Given the description of an element on the screen output the (x, y) to click on. 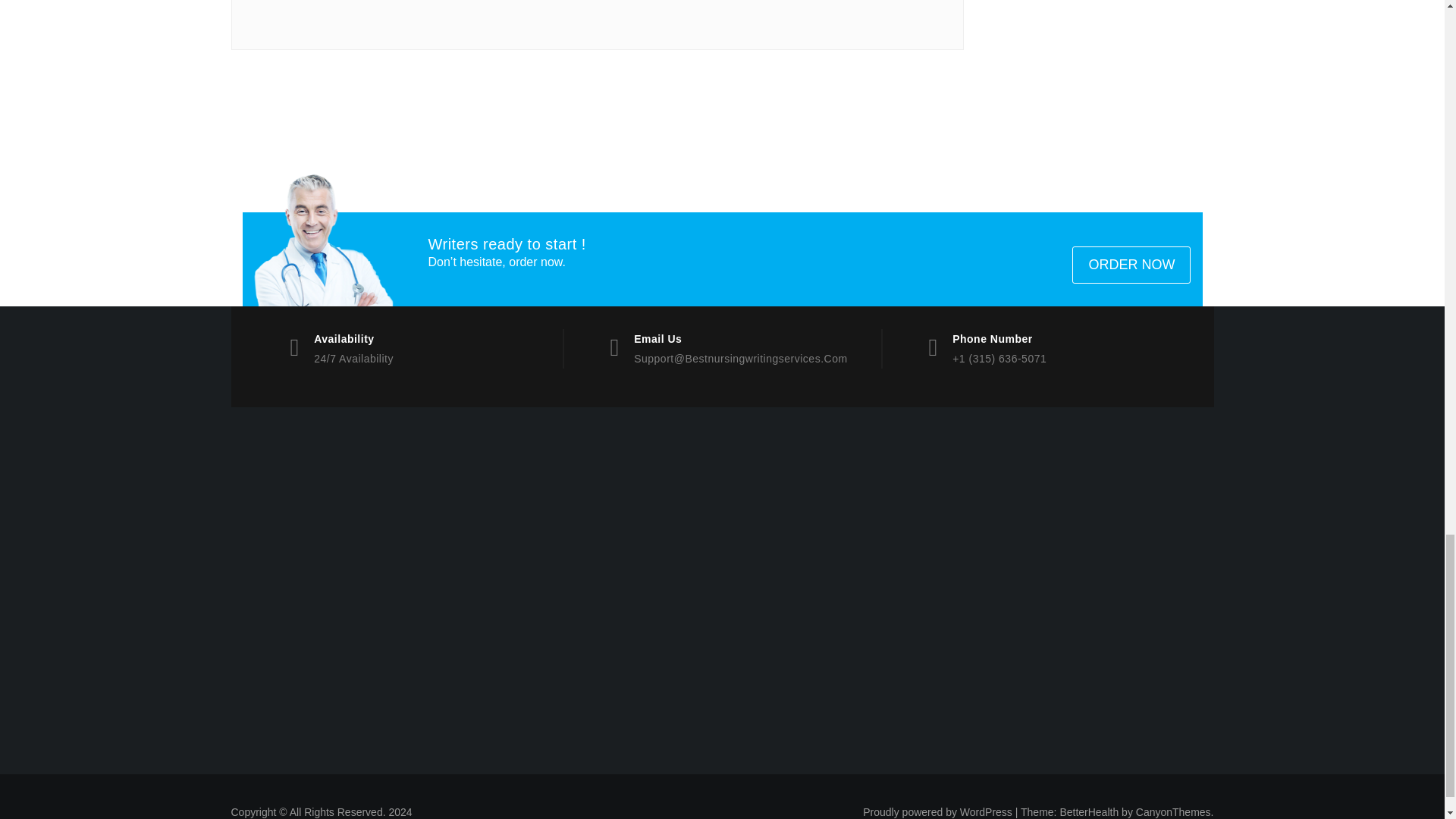
ORDER NOW (1131, 264)
